Given the description of an element on the screen output the (x, y) to click on. 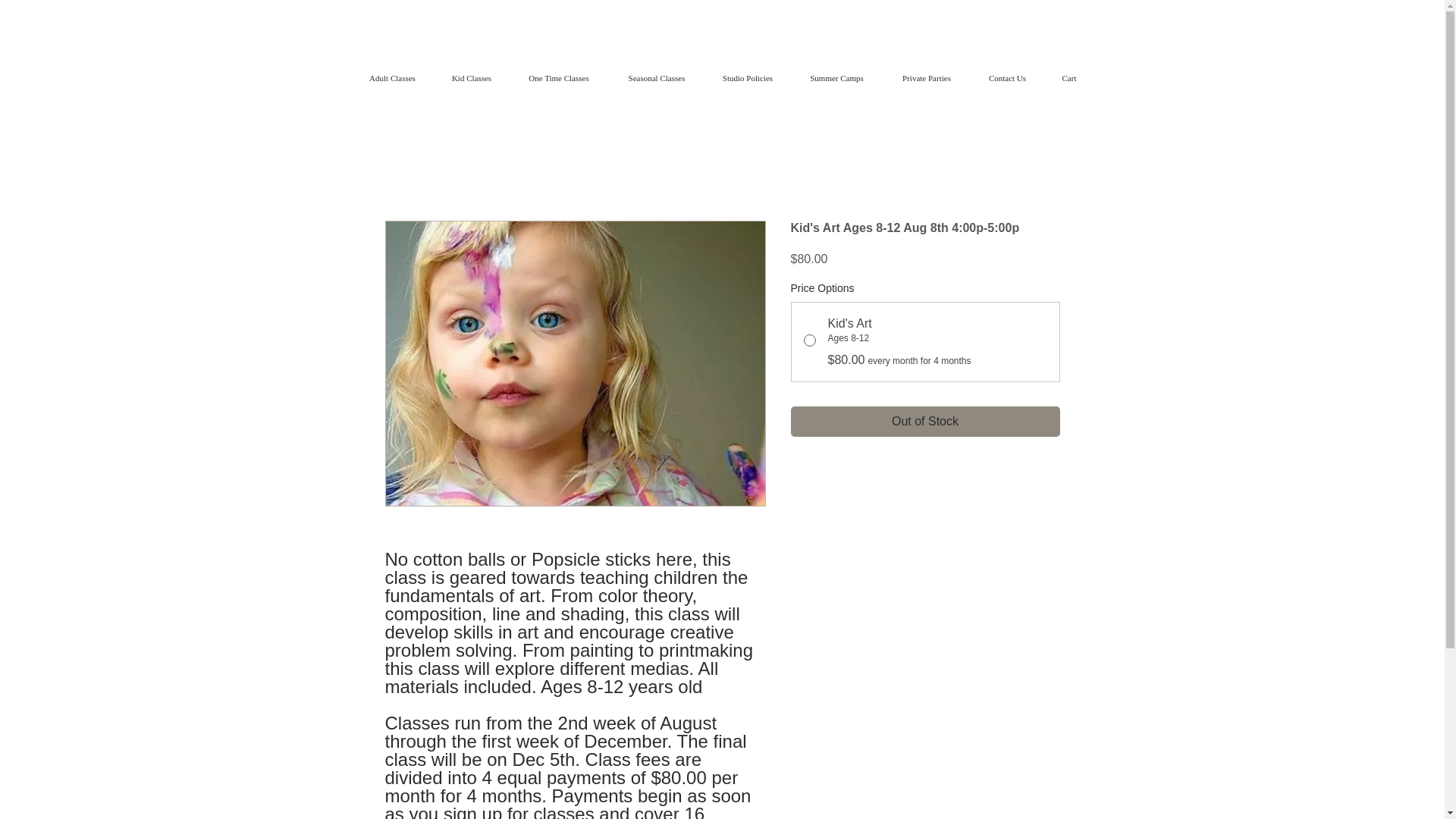
Adult Classes (391, 78)
Studio Policies (747, 78)
Cart (1069, 78)
Out of Stock (924, 421)
Summer Camps (836, 78)
Private Parties (925, 78)
One Time Classes (558, 78)
Kid Classes (470, 78)
Seasonal Classes (656, 78)
